Given the description of an element on the screen output the (x, y) to click on. 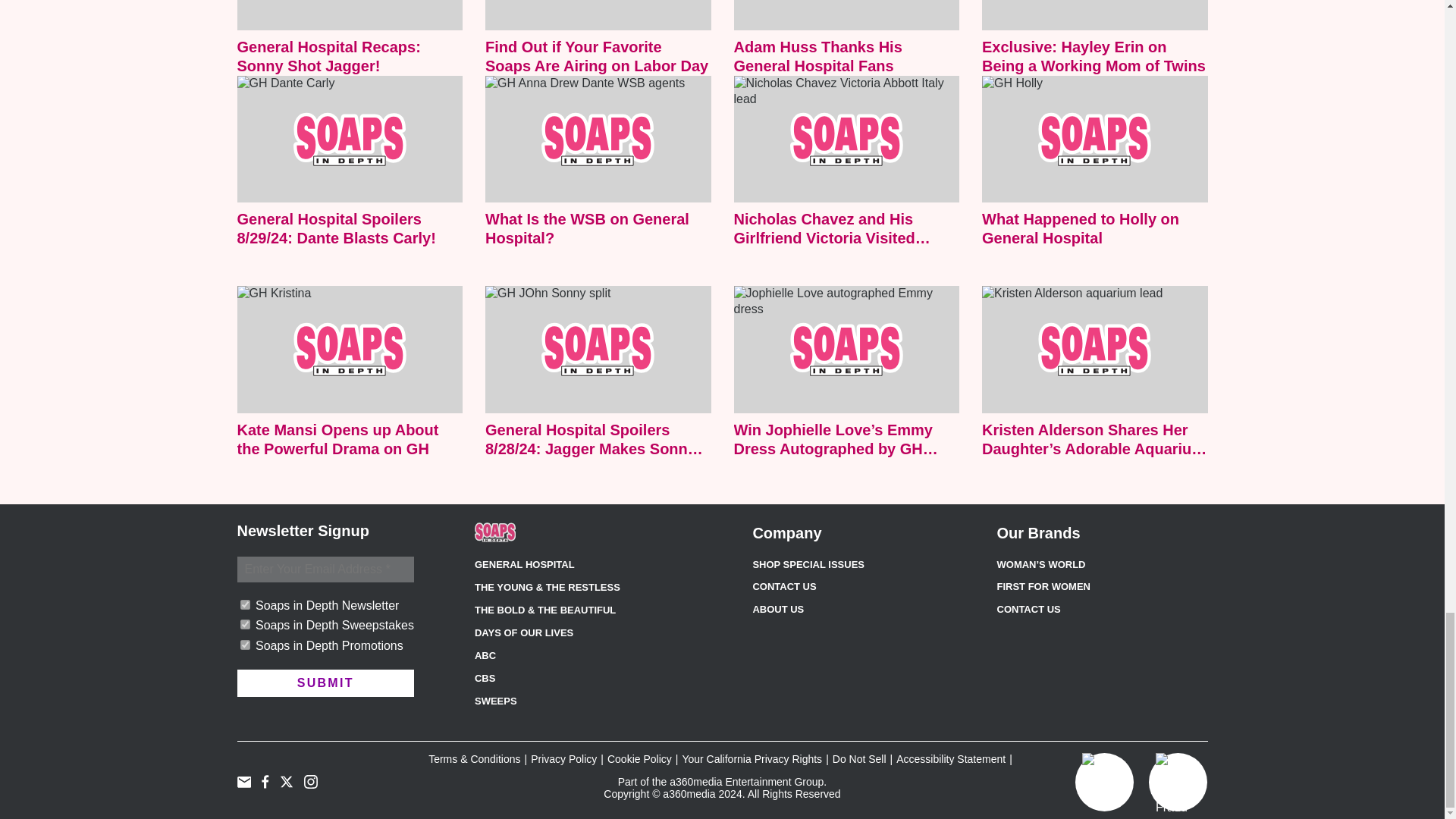
1 (244, 624)
1 (244, 604)
1 (244, 644)
